Given the description of an element on the screen output the (x, y) to click on. 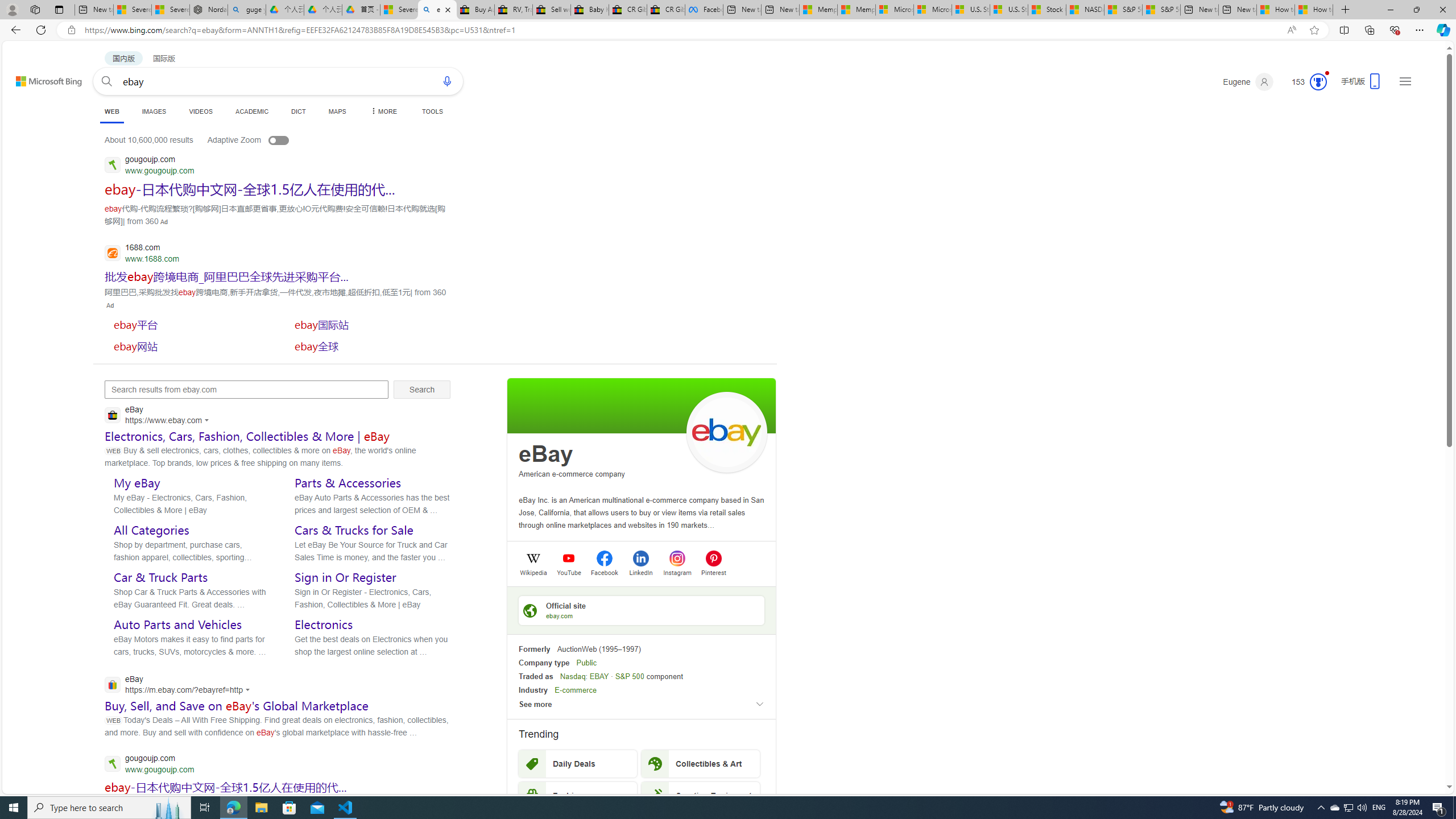
Search button (106, 80)
MAPS (336, 111)
MORE (382, 111)
TOOLS (431, 111)
Company type (543, 662)
Dropdown Menu (382, 111)
SERP,5715 (370, 345)
